Given the description of an element on the screen output the (x, y) to click on. 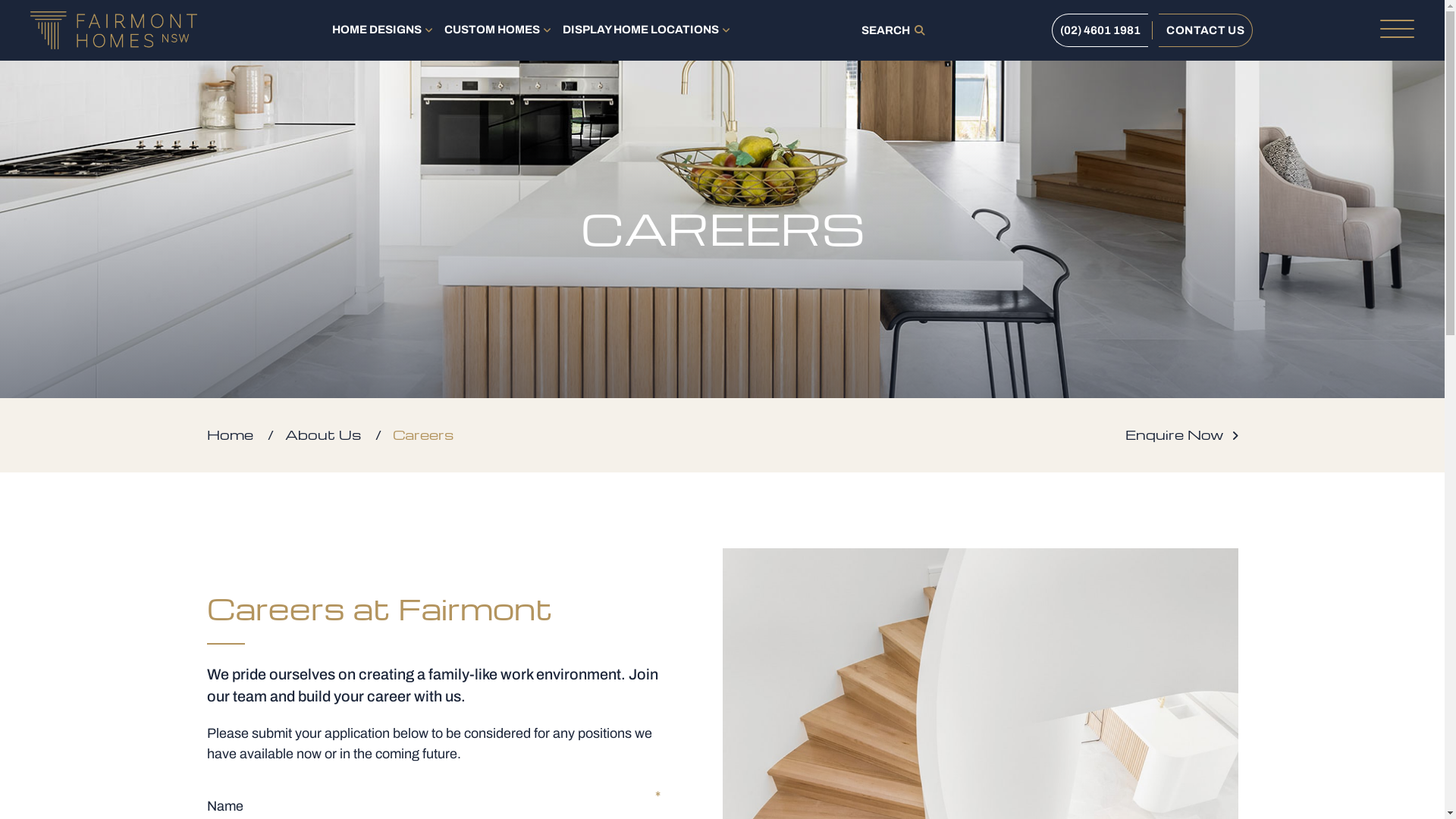
Home Element type: text (229, 433)
SEARCH Element type: text (893, 30)
DISPLAY HOME LOCATIONS Element type: text (644, 29)
(02) 4601 1981 Element type: text (1099, 30)
About Us Element type: text (322, 433)
HOME DESIGNS Element type: text (380, 29)
CUSTOM HOMES Element type: text (495, 29)
CONTACT US Element type: text (1205, 30)
Enquire Now Element type: text (1181, 433)
